Given the description of an element on the screen output the (x, y) to click on. 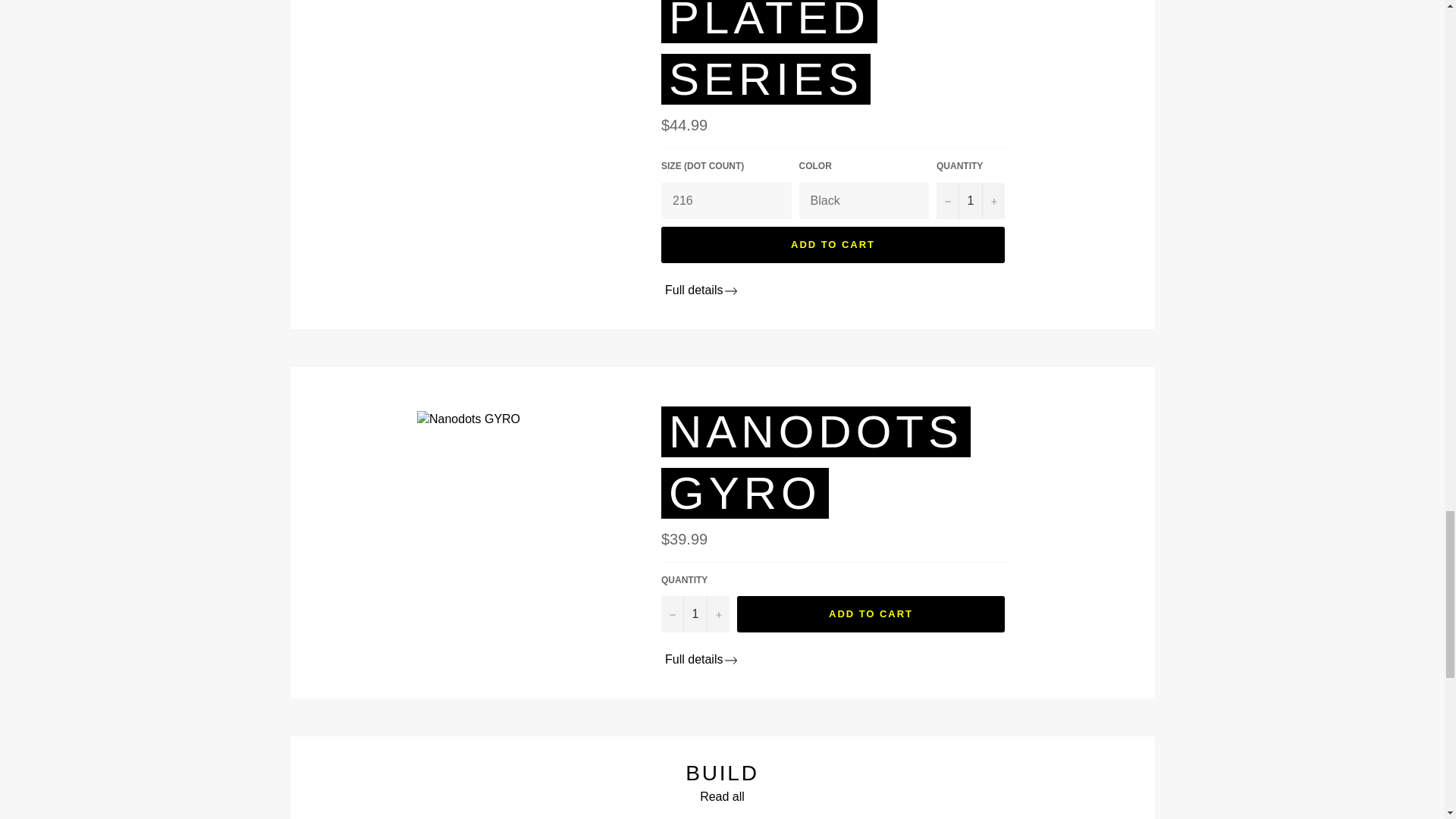
ADD TO CART (832, 244)
ORIGINAL NANODOTS PLATED SERIES (816, 52)
1 (695, 614)
NANODOTS GYRO (816, 462)
1 (970, 200)
Full details (700, 658)
Full details (700, 289)
Read all (722, 796)
ADD TO CART (870, 614)
